Given the description of an element on the screen output the (x, y) to click on. 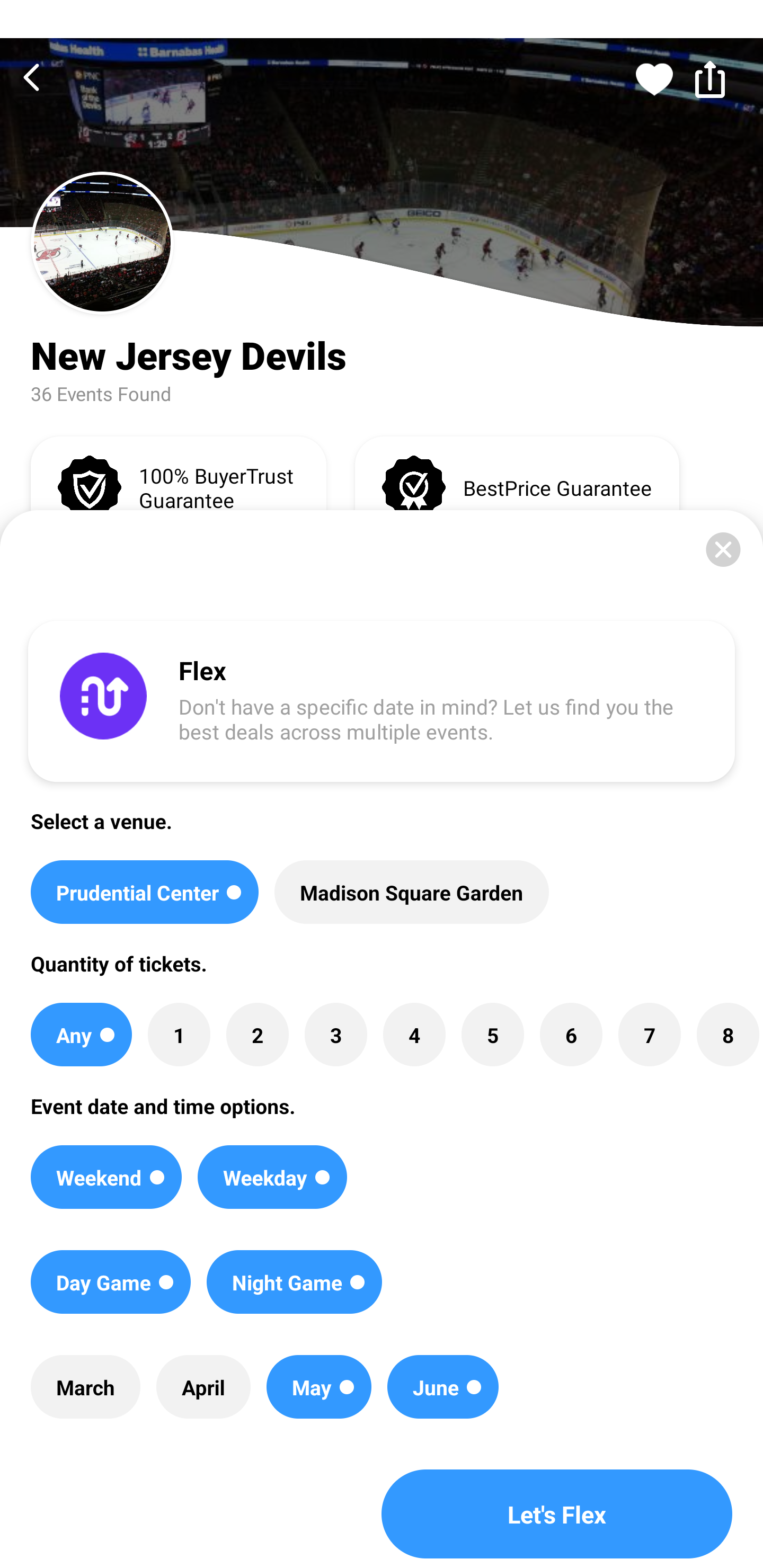
Prudential Center (144, 891)
Madison Square Garden (411, 891)
Any (80, 1034)
1 (179, 1034)
2 (257, 1034)
3 (335, 1034)
4 (414, 1034)
5 (492, 1034)
6 (571, 1034)
7 (649, 1034)
8 (727, 1034)
Weekend (105, 1176)
Weekday (272, 1176)
Day Game (110, 1281)
Night Game (294, 1281)
March (85, 1386)
April (203, 1386)
May (318, 1386)
June (442, 1386)
Let's Flex (556, 1513)
